Given the description of an element on the screen output the (x, y) to click on. 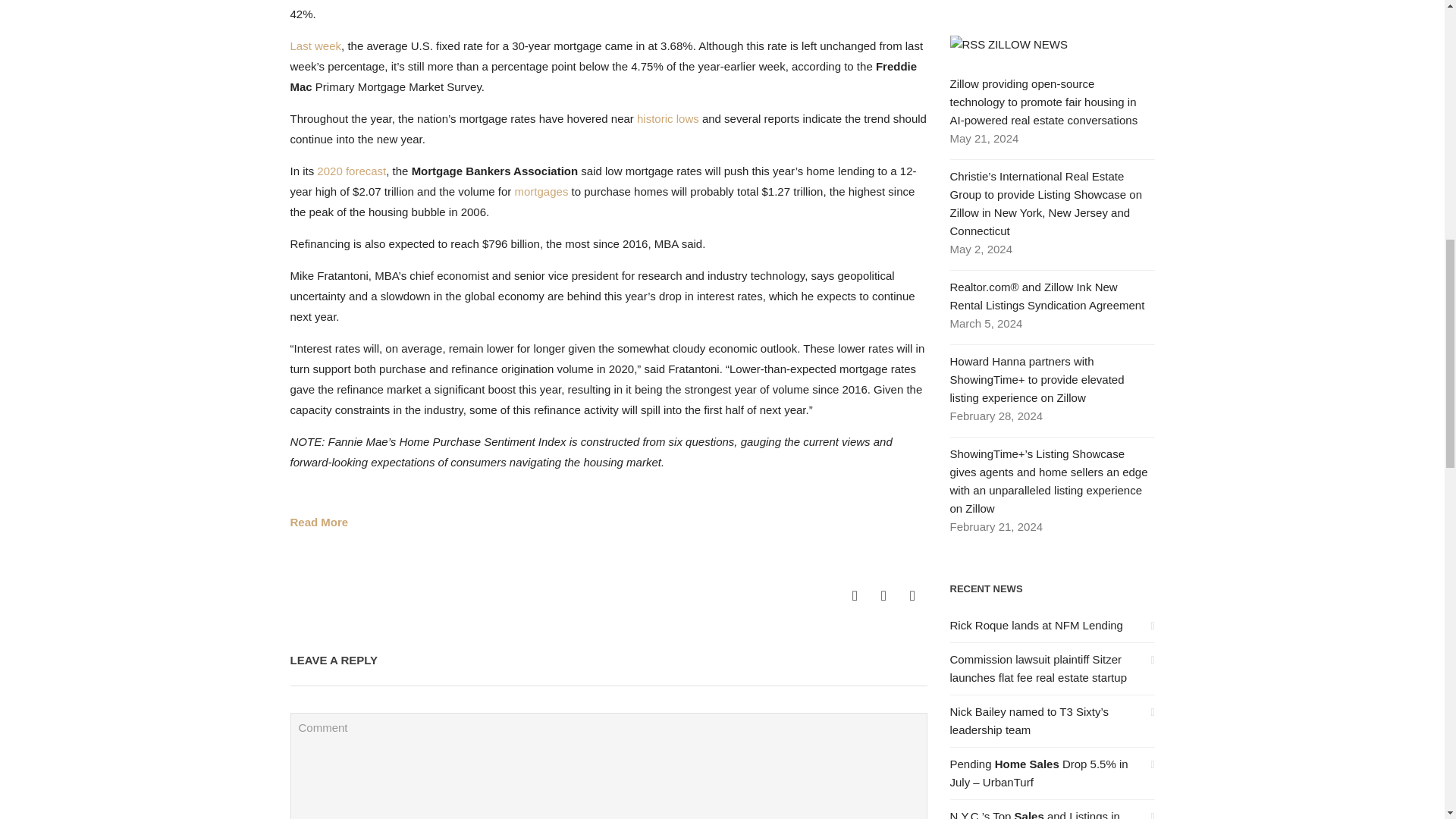
Read More (318, 521)
2020 forecast (351, 170)
Last week (314, 45)
historic lows (667, 118)
ZILLOW NEWS (1027, 43)
mortgages (542, 191)
